Given the description of an element on the screen output the (x, y) to click on. 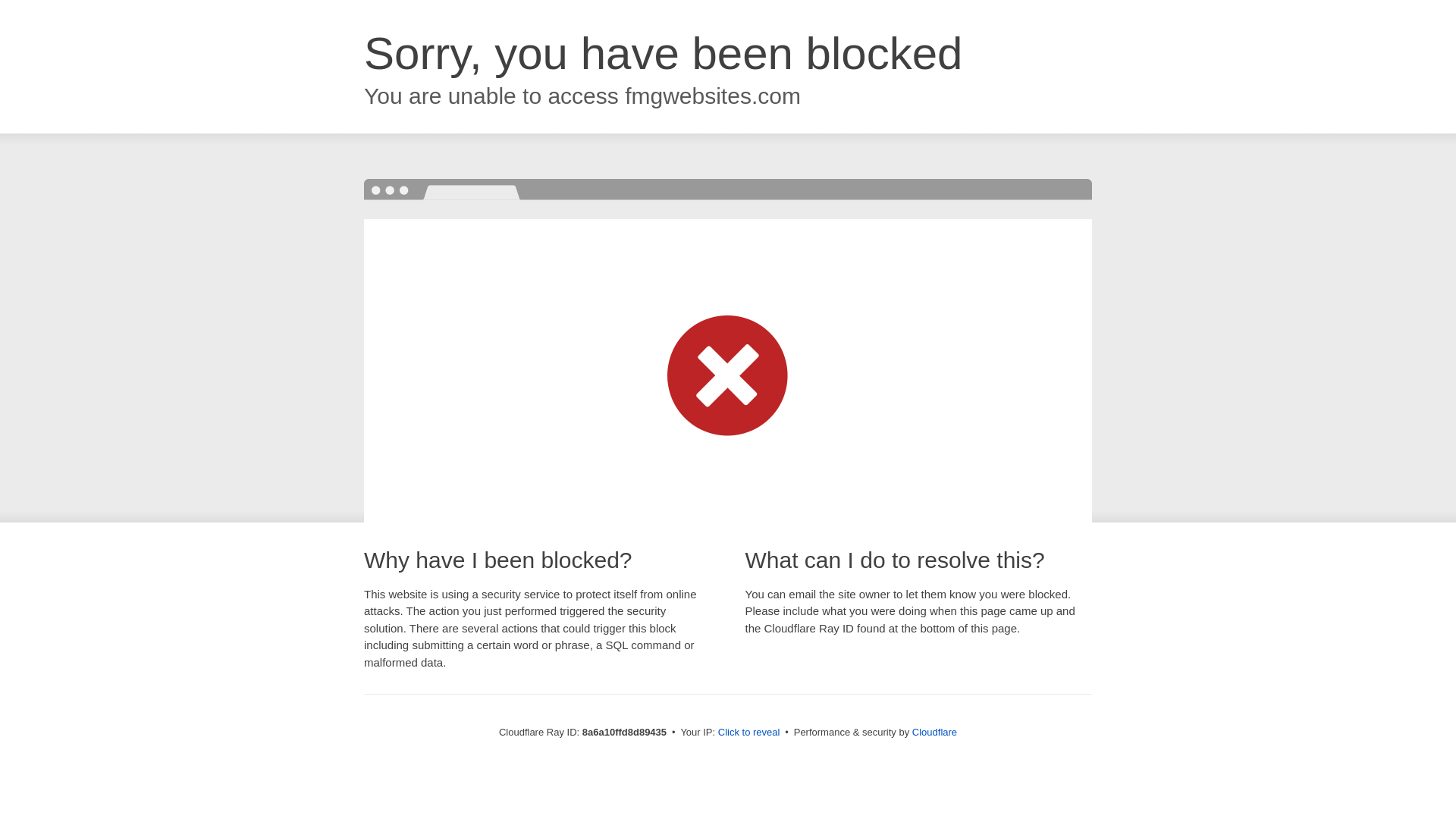
Click to reveal (748, 732)
Cloudflare (934, 731)
